Given the description of an element on the screen output the (x, y) to click on. 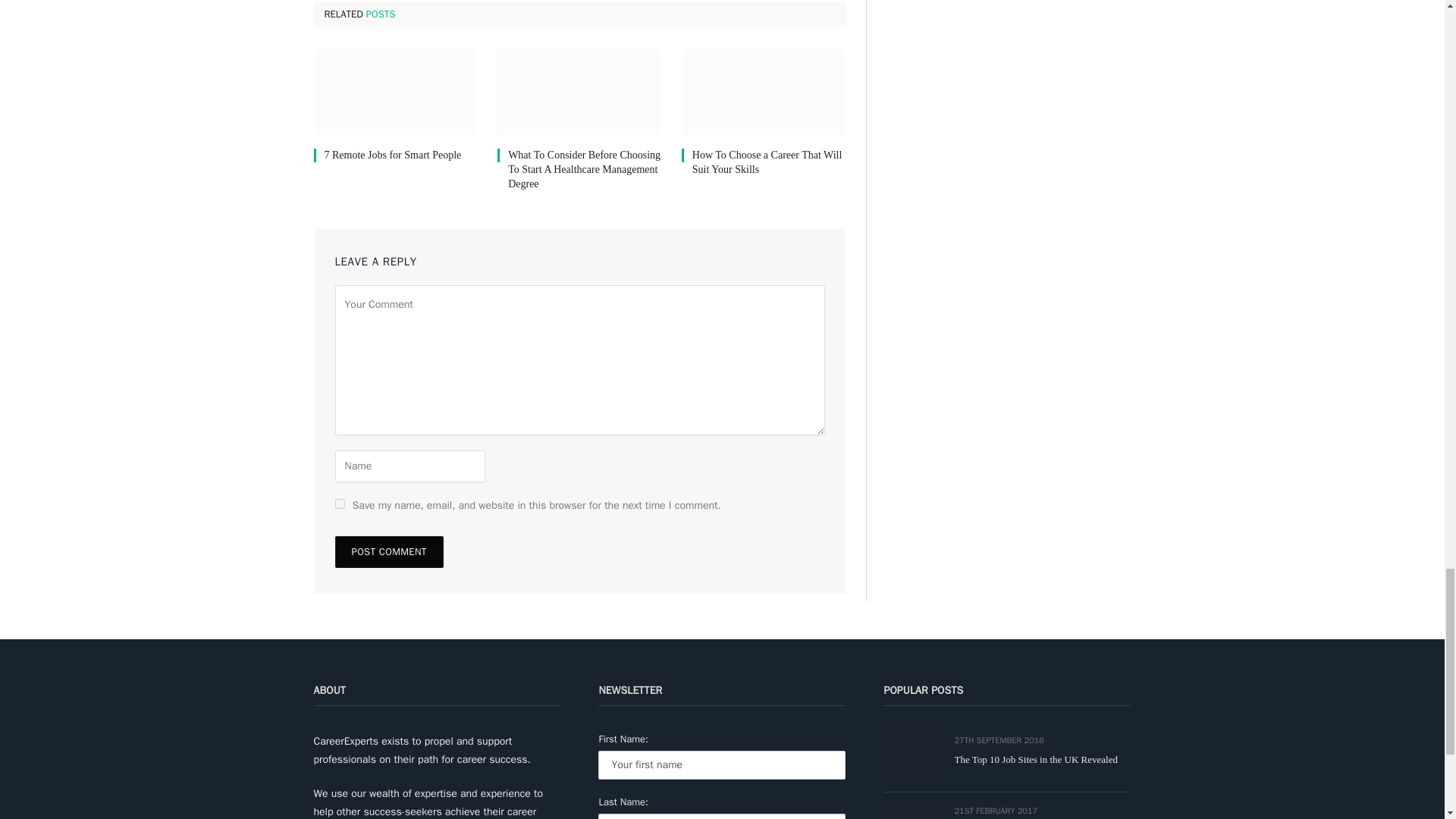
Post Comment (389, 552)
yes (339, 503)
